Given the description of an element on the screen output the (x, y) to click on. 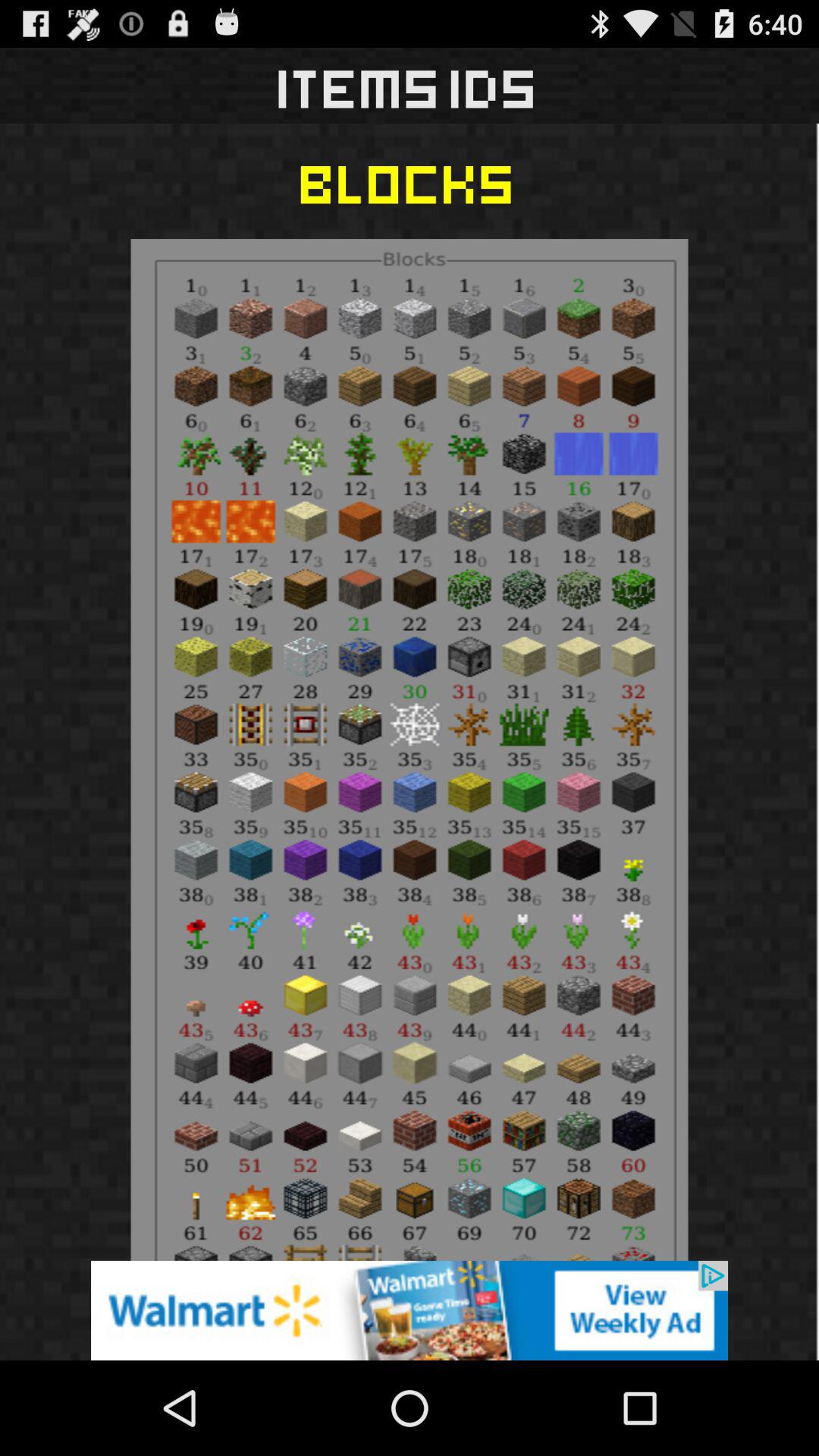
advertisements (409, 1310)
